Given the description of an element on the screen output the (x, y) to click on. 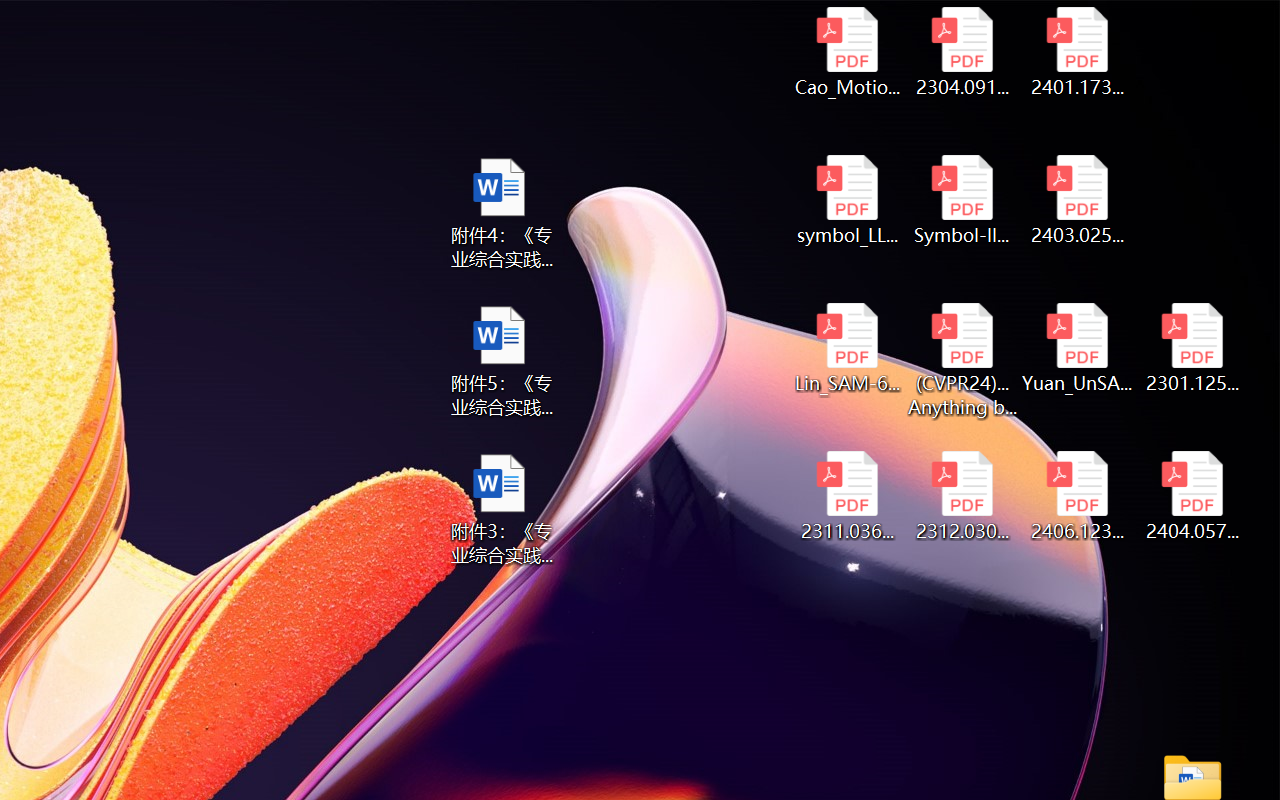
symbol_LLM.pdf (846, 200)
2403.02502v1.pdf (1077, 200)
2301.12597v3.pdf (1192, 348)
2312.03032v2.pdf (962, 496)
2404.05719v1.pdf (1192, 496)
2406.12373v2.pdf (1077, 496)
2304.09121v3.pdf (962, 52)
Symbol-llm-v2.pdf (962, 200)
(CVPR24)Matching Anything by Segmenting Anything.pdf (962, 360)
2311.03658v2.pdf (846, 496)
